Given the description of an element on the screen output the (x, y) to click on. 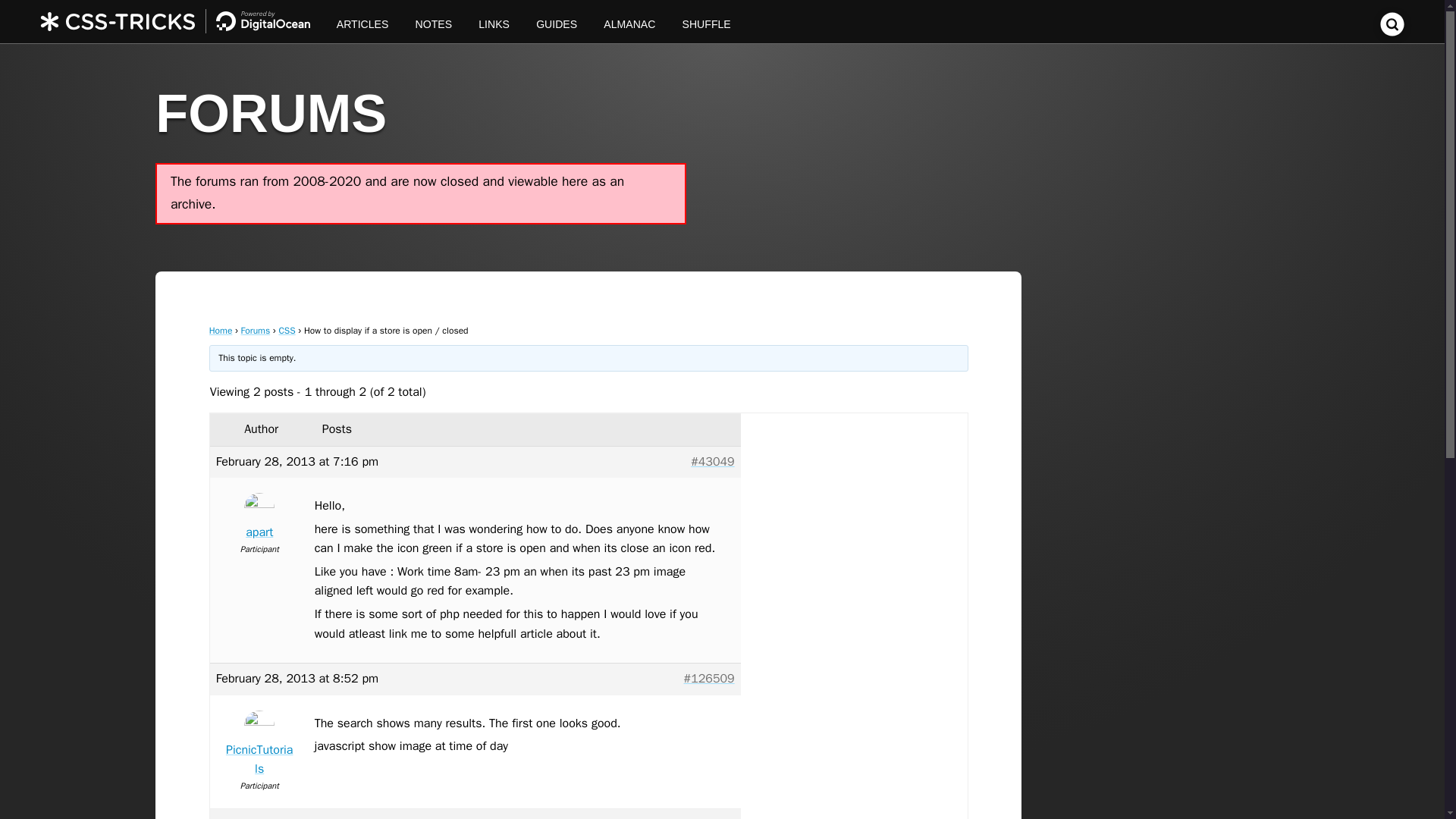
ARTICLES (362, 21)
apart (258, 519)
ALMANAC (629, 21)
SHUFFLE (706, 21)
Home (220, 330)
LINKS (493, 21)
CSS (286, 330)
Search (1392, 31)
CSS-Tricks (181, 21)
View PicnicTutorials's profile (258, 746)
NOTES (433, 21)
PicnicTutorials (258, 746)
GUIDES (556, 21)
Forums (255, 330)
View apart's profile (258, 519)
